Given the description of an element on the screen output the (x, y) to click on. 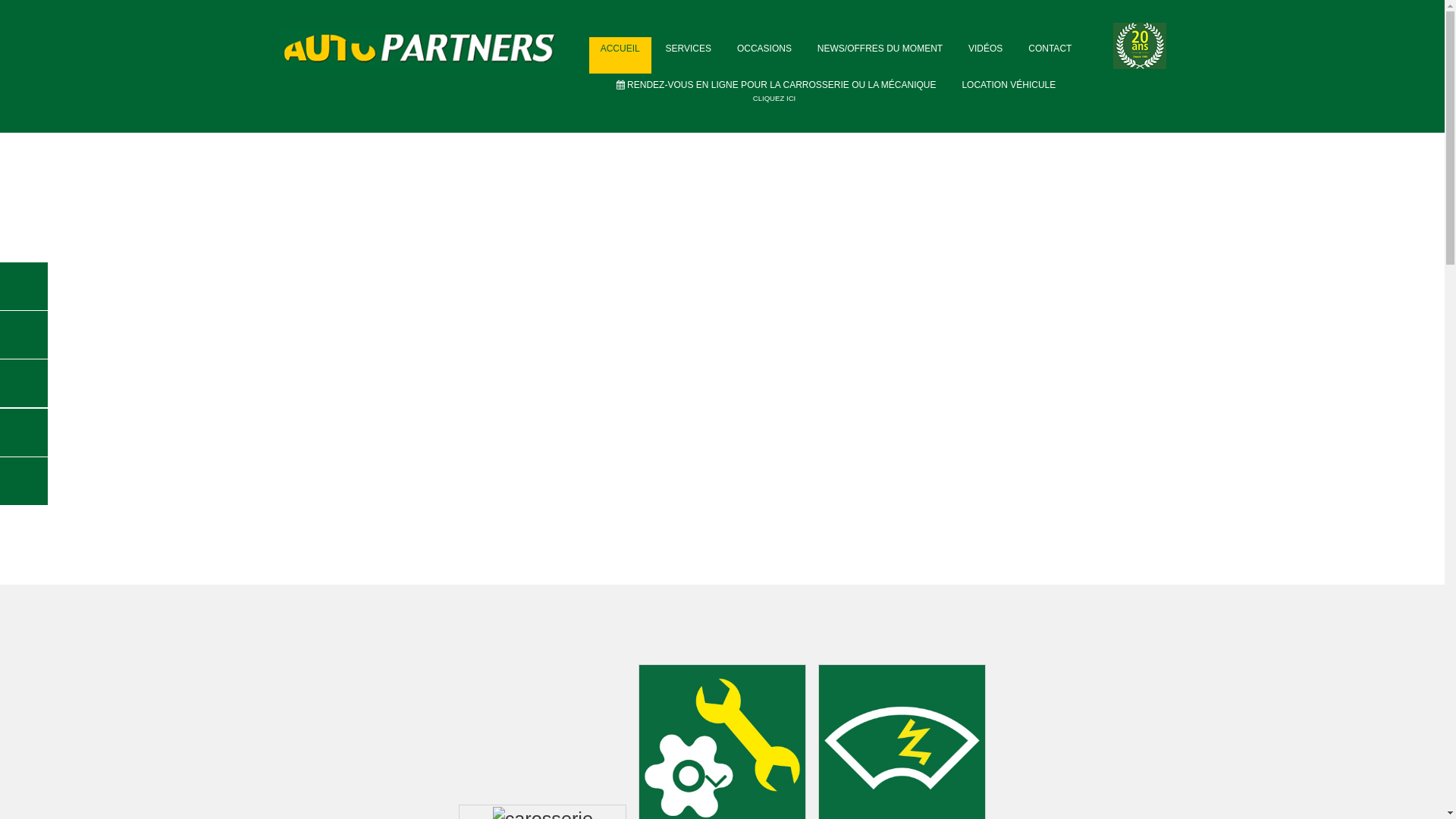
NEWS/OFFRES DU MOMENT
  Element type: text (879, 55)
SERVICES
  Element type: text (688, 55)
ACCUEIL
  Element type: text (620, 55)
OCCASIONS
  Element type: text (764, 55)
CONTACT
  Element type: text (1049, 55)
